Given the description of an element on the screen output the (x, y) to click on. 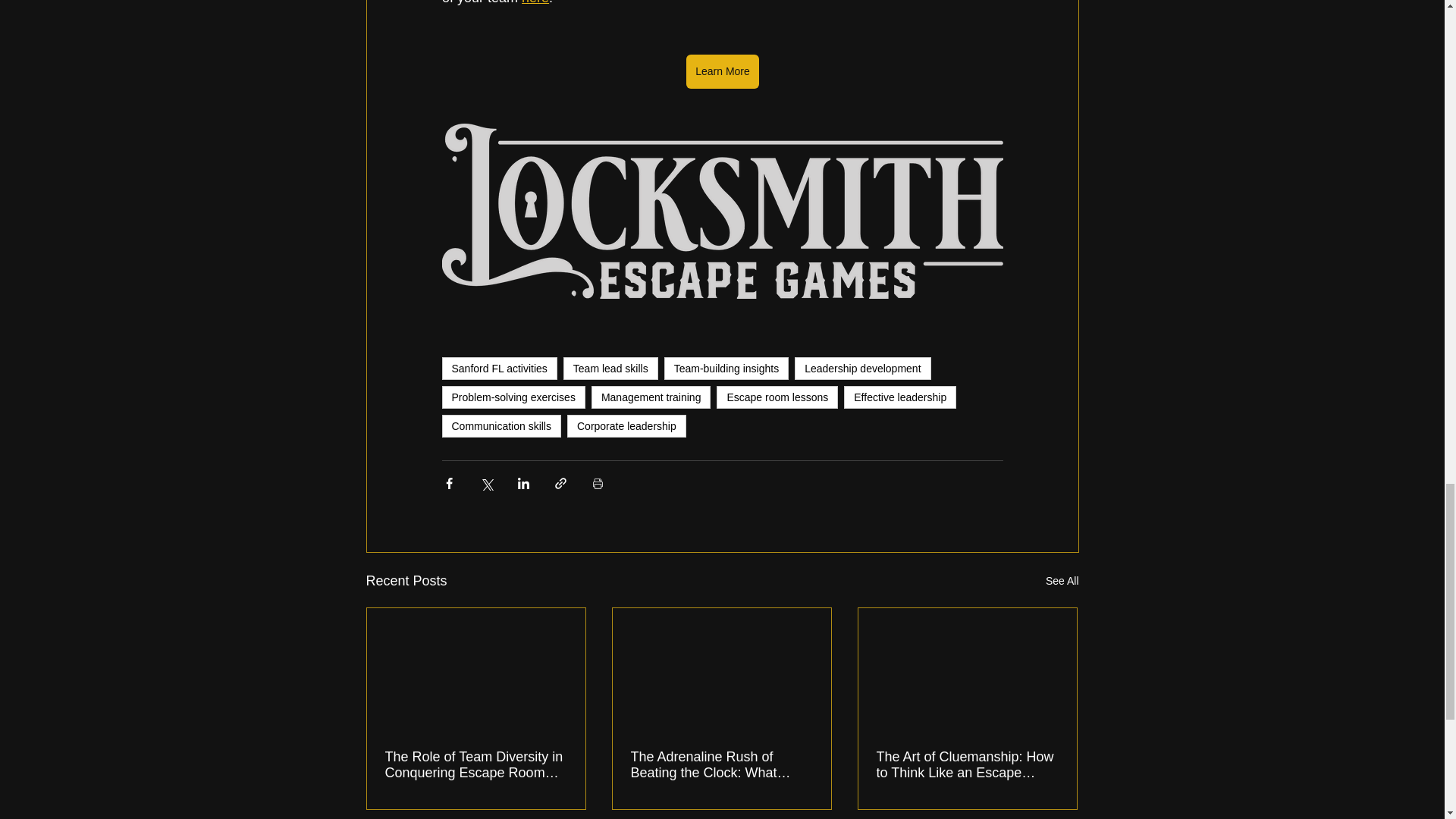
Leadership development (862, 368)
Learn More (721, 71)
Communication skills (500, 425)
Sanford FL activities (498, 368)
Team-building insights (726, 368)
Problem-solving exercises (513, 396)
See All (1061, 581)
Escape room lessons (777, 396)
Effective leadership (900, 396)
